Given the description of an element on the screen output the (x, y) to click on. 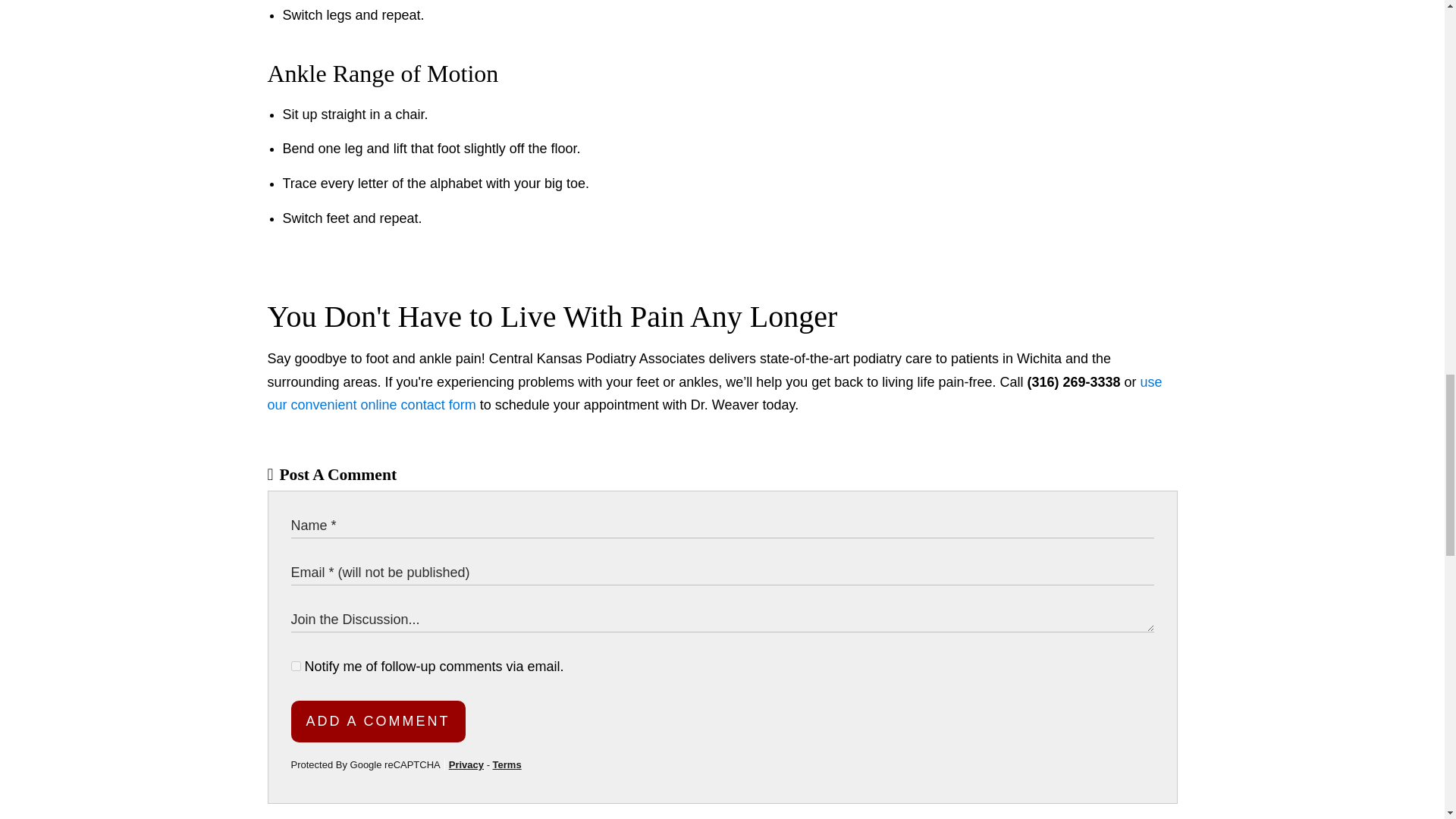
Terms (507, 764)
ADD A COMMENT (378, 721)
Privacy (465, 764)
1 (296, 665)
use our convenient online contact form (713, 393)
